Given the description of an element on the screen output the (x, y) to click on. 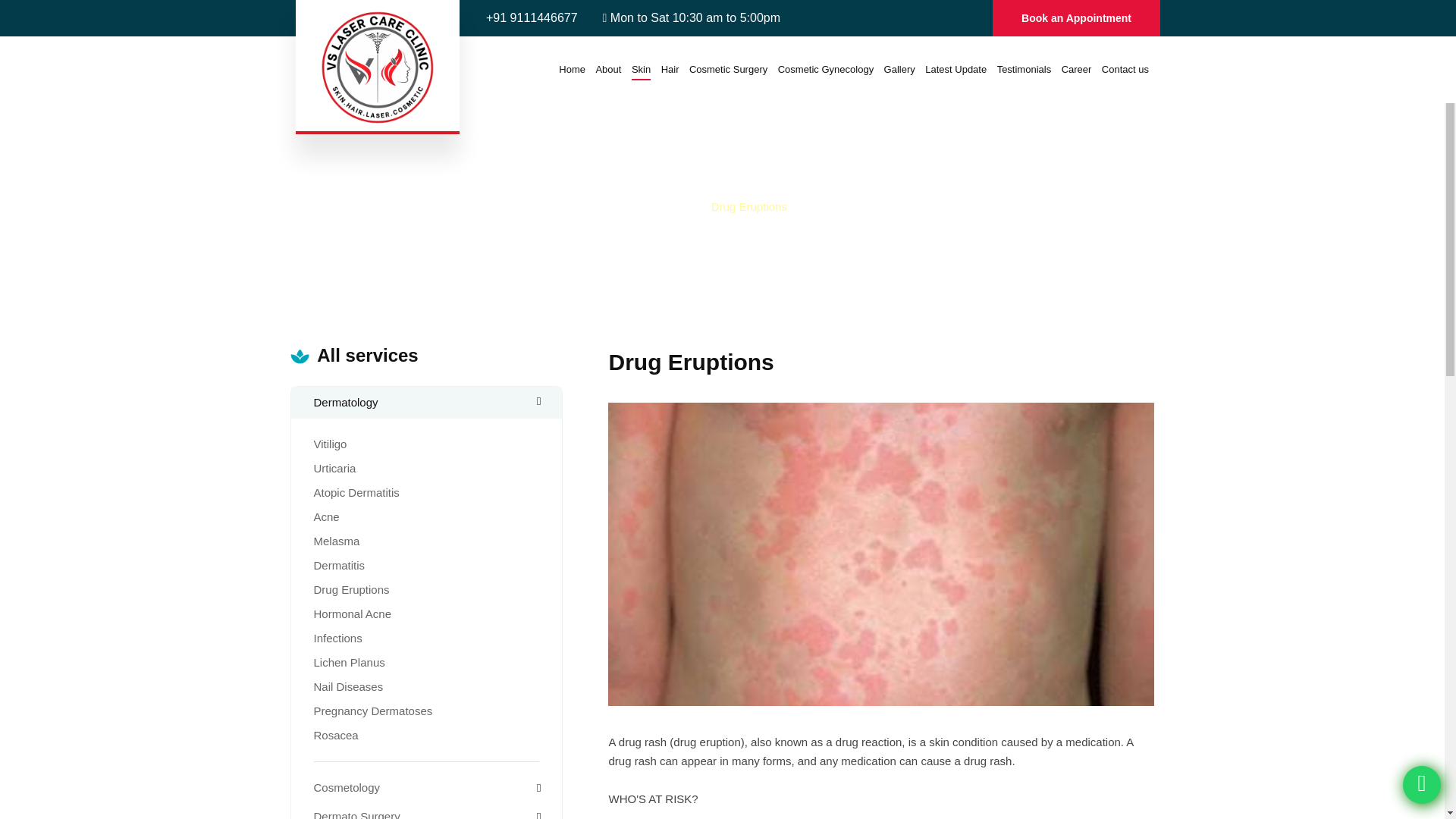
Career (1076, 69)
Cosmetic Surgery (727, 69)
Dermatology (427, 402)
Book an Appointment (1076, 18)
Vitiligo (330, 443)
Nail Diseases (349, 686)
Acne (326, 516)
Contact us (1125, 69)
Hormonal Acne (352, 613)
Skin (640, 69)
